Given the description of an element on the screen output the (x, y) to click on. 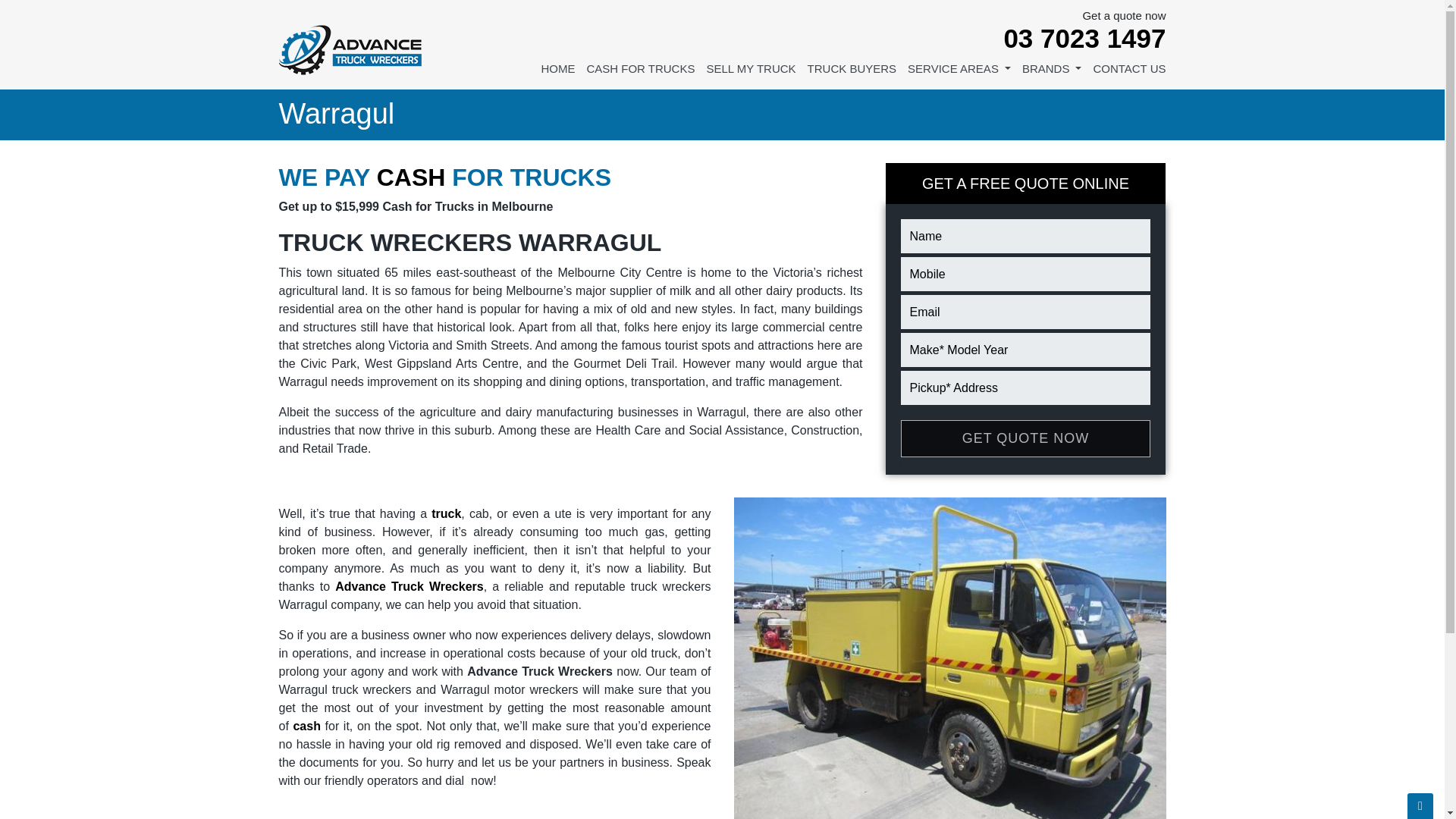
Get Quote Now (1026, 438)
SELL MY TRUCK (750, 74)
03 7023 1497 (1072, 37)
HOME (557, 74)
SERVICE AREAS (958, 74)
TRUCK BUYERS (852, 74)
CASH FOR TRUCKS (640, 74)
